Given the description of an element on the screen output the (x, y) to click on. 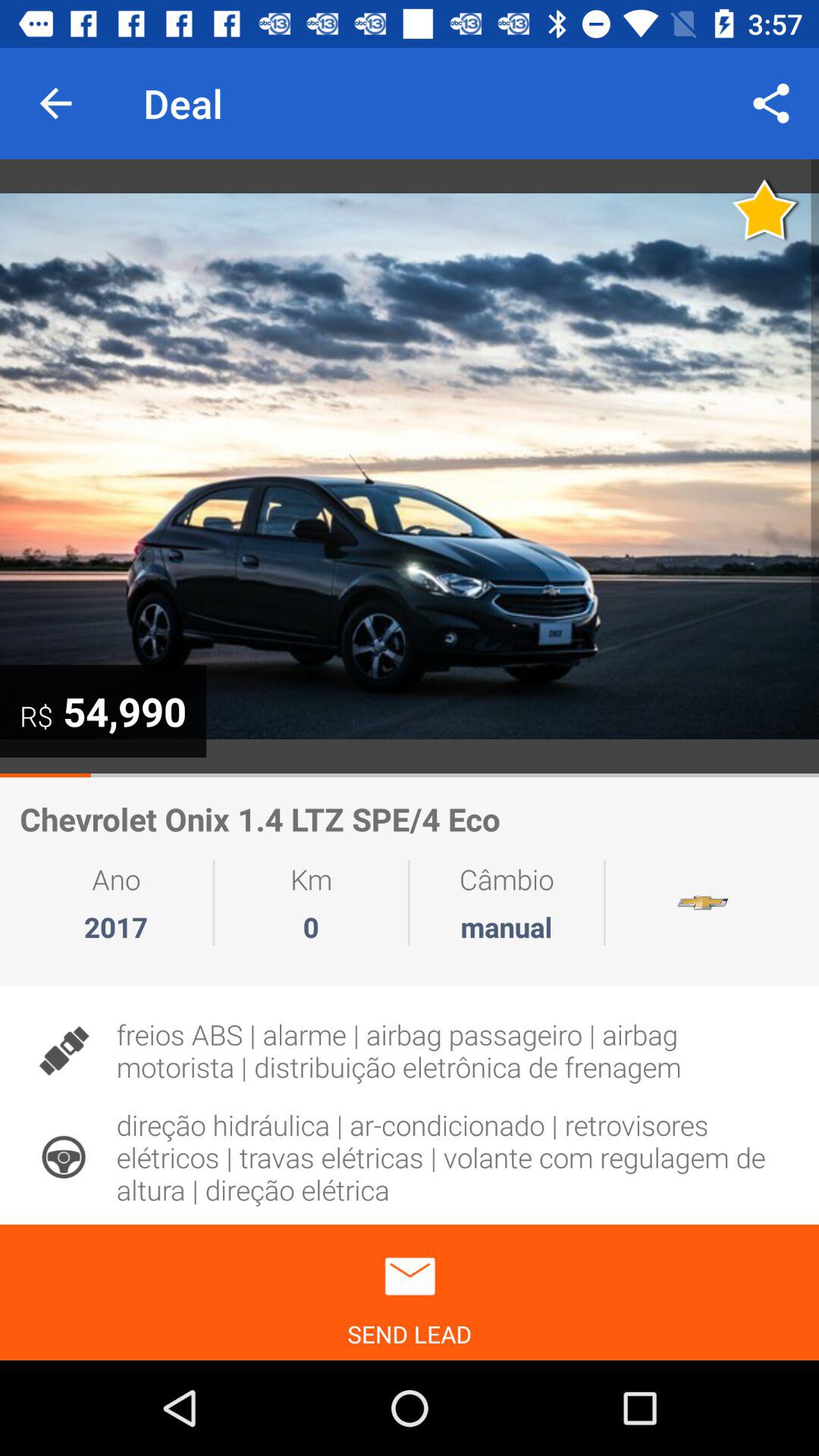
photo of car (409, 466)
